Given the description of an element on the screen output the (x, y) to click on. 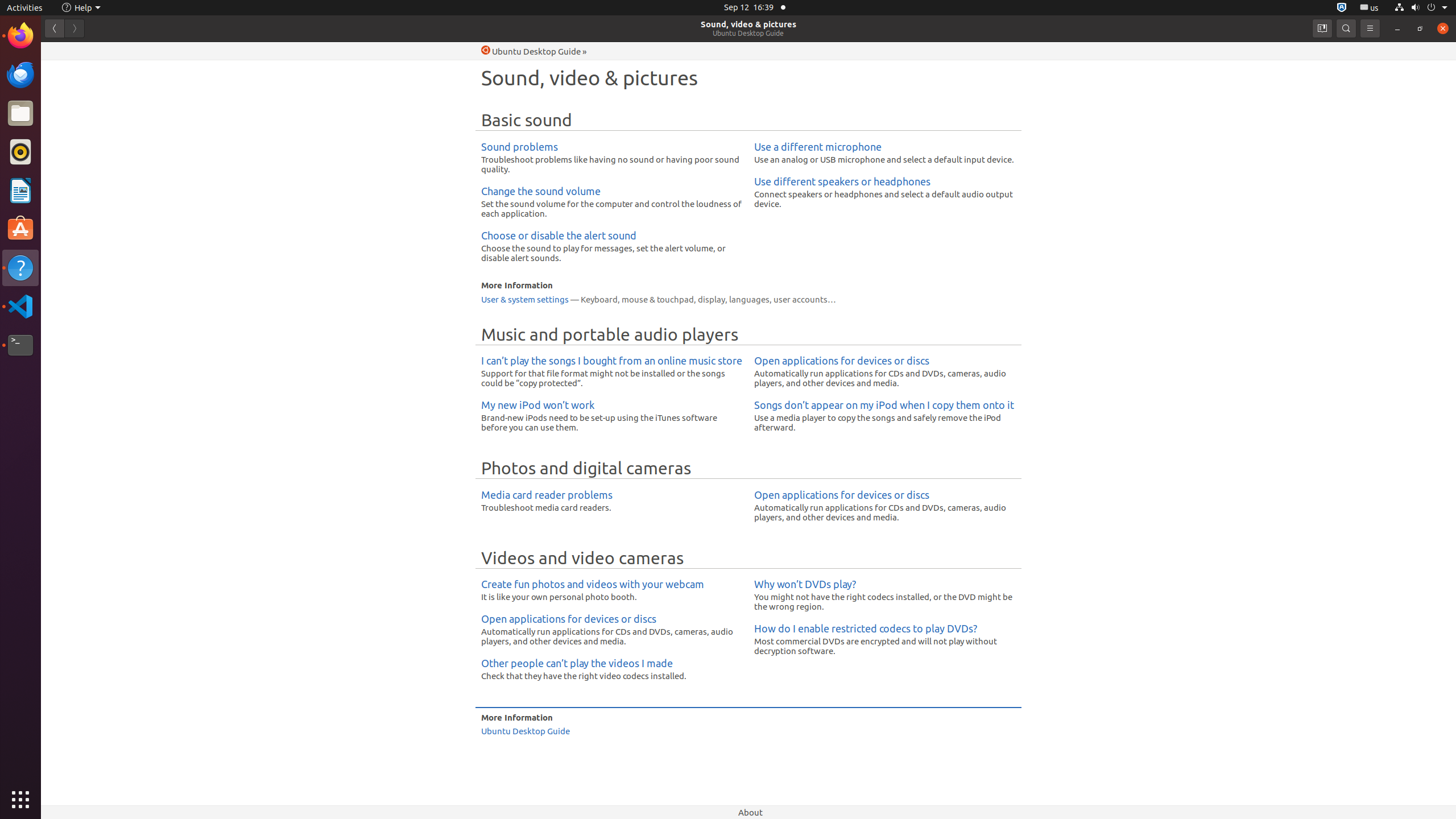
Other people can’t play the videos I made Check that they have the right video codecs installed. Element type: link (611, 669)
Restore Element type: push-button (1419, 27)
Sound problems Troubleshoot problems like having no sound or having poor sound quality. Element type: link (611, 156)
My new iPod won’t work Brand-new iPods need to be set-up using the iTunes software before you can use them. Element type: link (611, 415)
Help Ubuntu Desktop Guide Element type: link (530, 50)
